Given the description of an element on the screen output the (x, y) to click on. 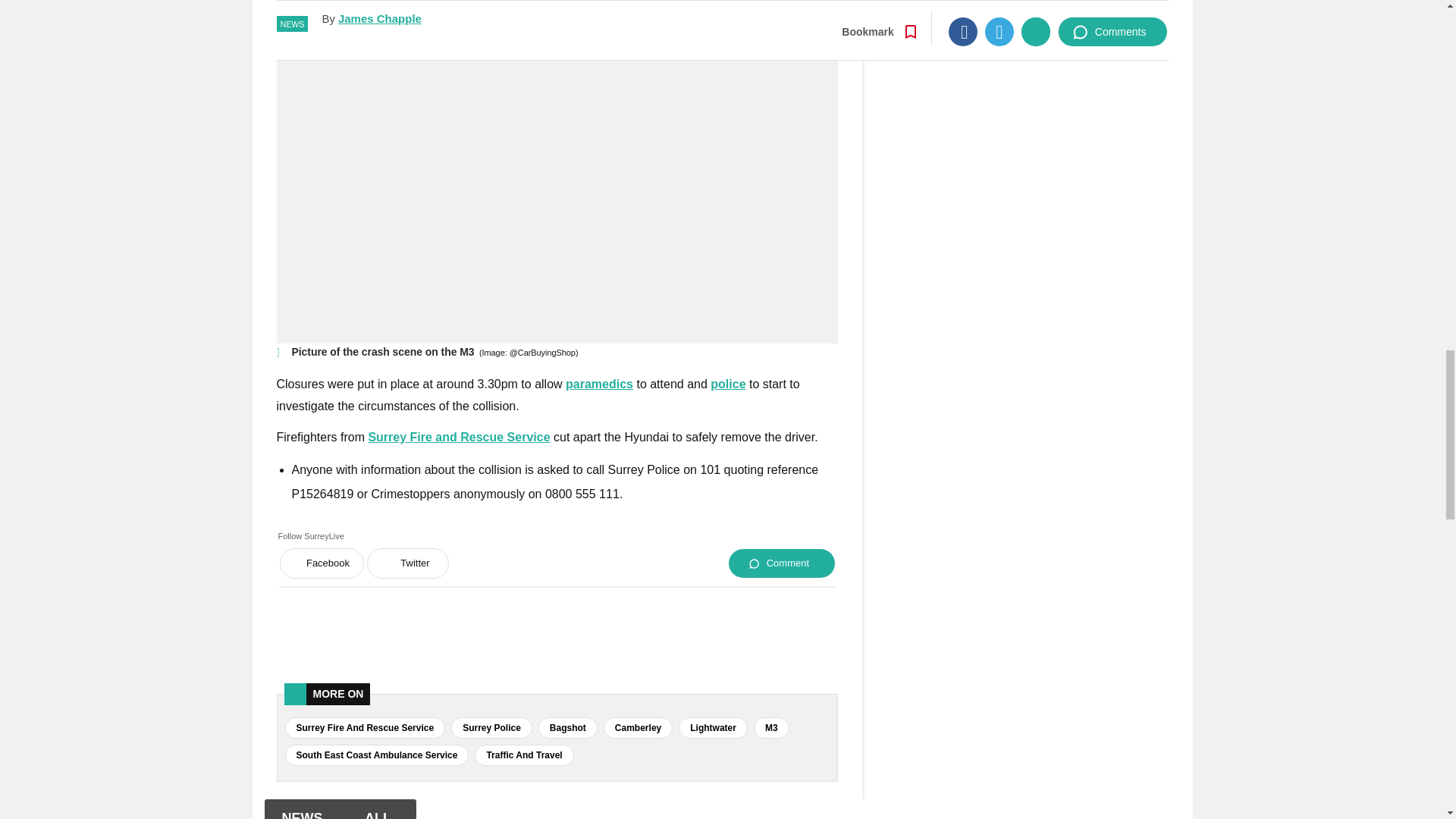
Surrey Fire and Rescue Service (459, 436)
Surrey Police (727, 383)
South East Coast Ambulance Service (599, 383)
